Given the description of an element on the screen output the (x, y) to click on. 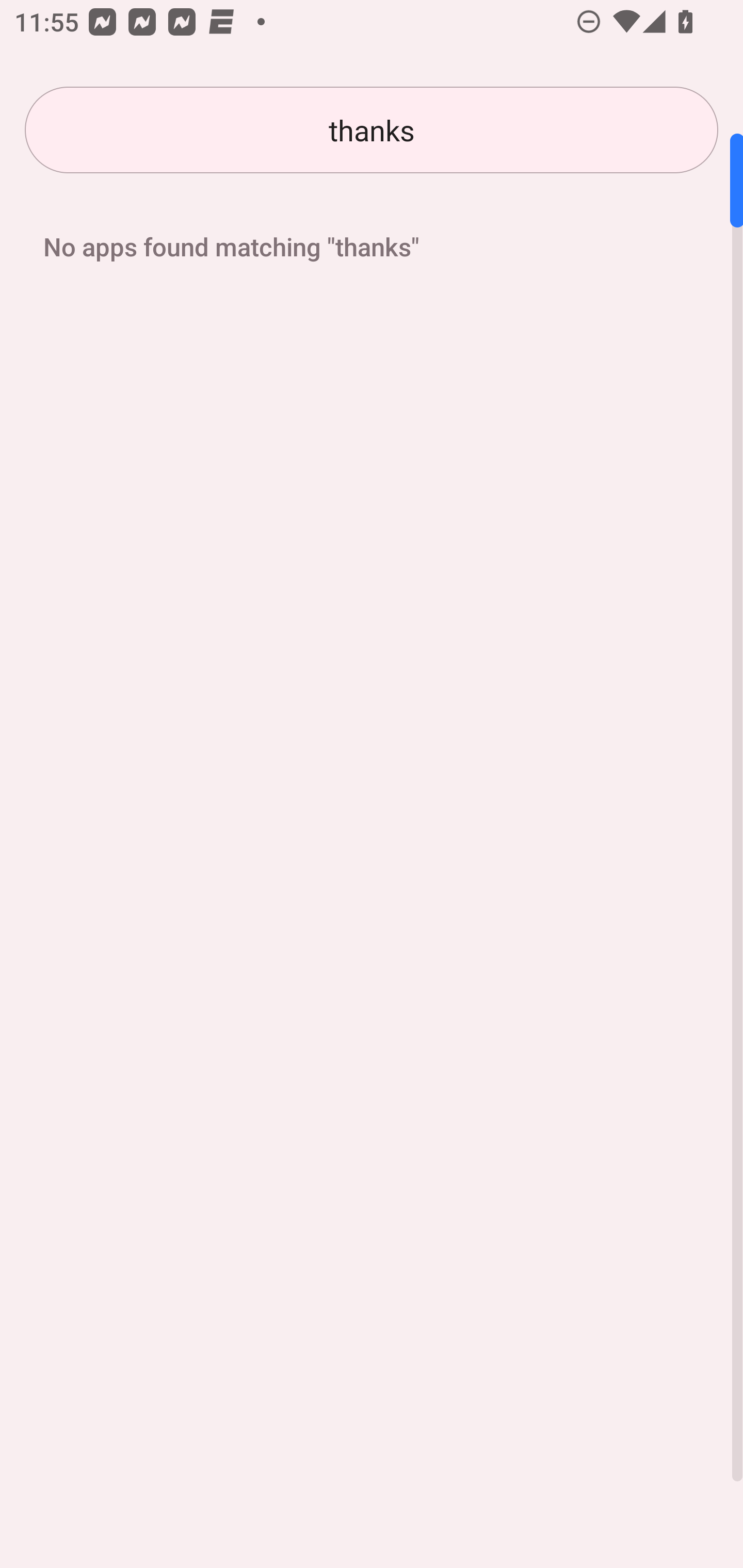
thanks (371, 130)
